Given the description of an element on the screen output the (x, y) to click on. 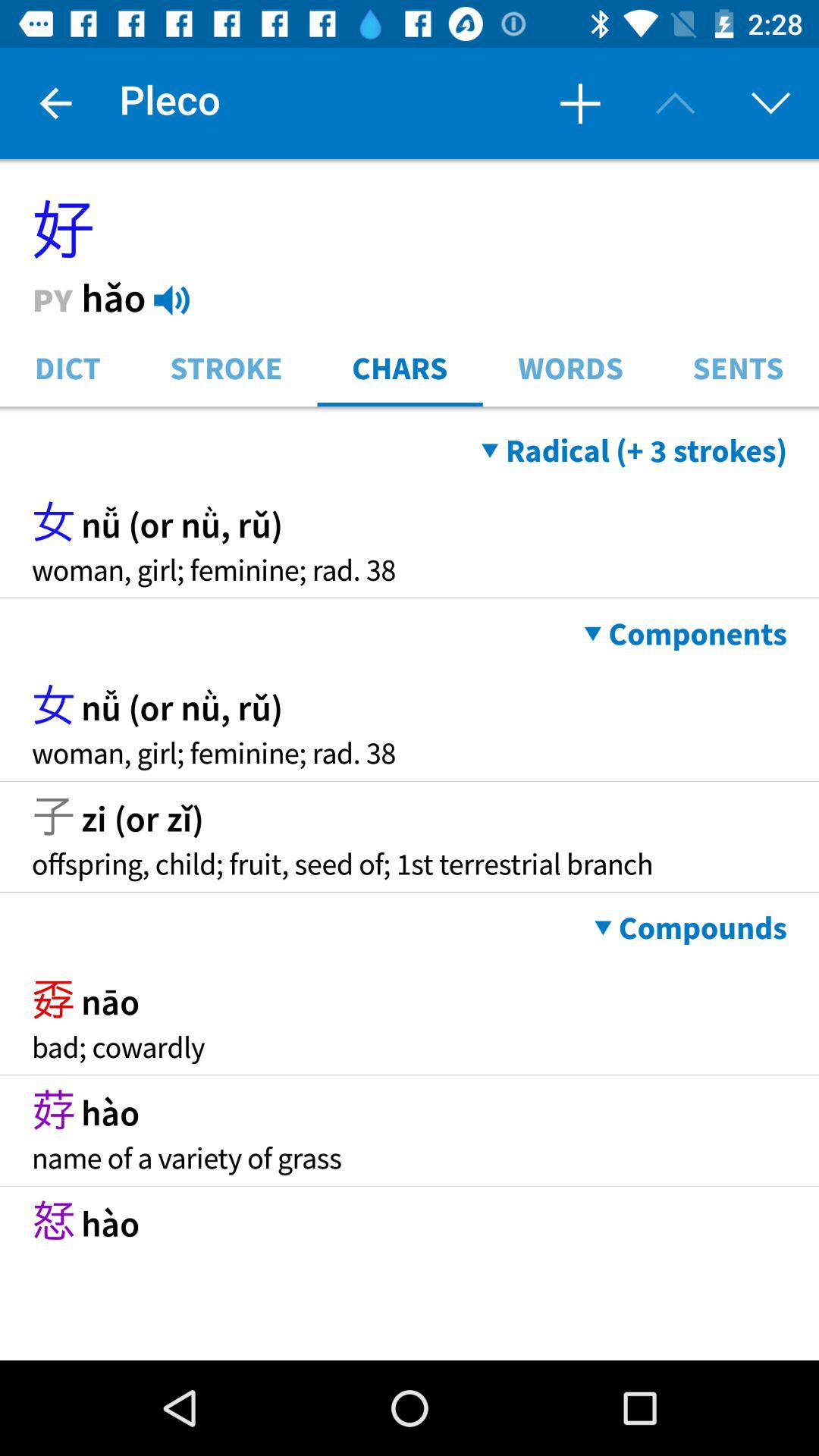
turn off the icon next to the pleco item (579, 103)
